Given the description of an element on the screen output the (x, y) to click on. 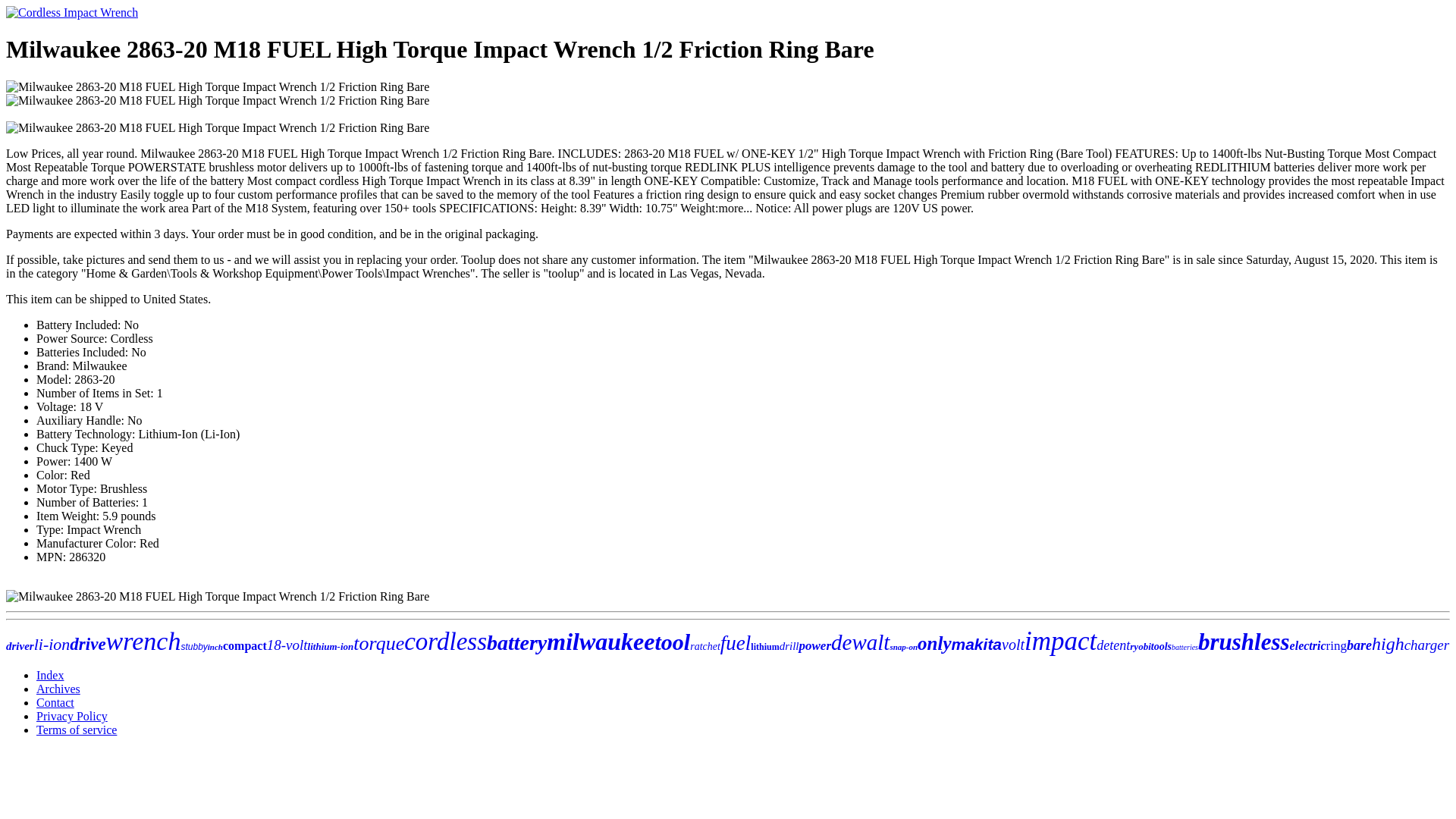
lithium-ion (330, 645)
tools (1161, 645)
stubby (193, 646)
snap-on (903, 646)
drill (788, 645)
tool (672, 641)
battery (516, 642)
wrench (143, 641)
fuel (735, 642)
dewalt (860, 641)
drive (86, 643)
makita (977, 643)
18-volt (286, 644)
only (933, 643)
cordless (445, 641)
